Given the description of an element on the screen output the (x, y) to click on. 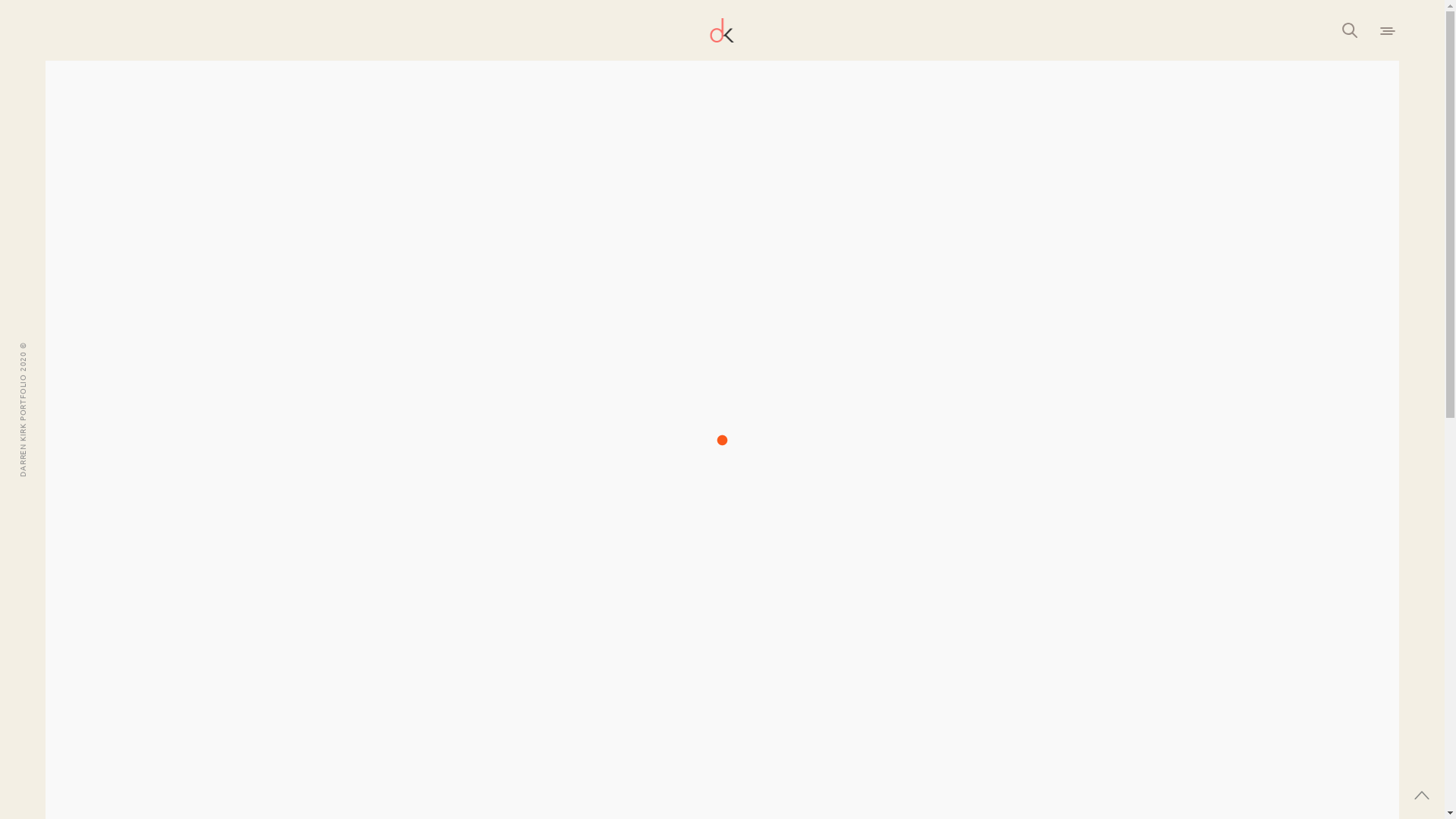
Infusion T logo animation Element type: hover (721, 295)
